Given the description of an element on the screen output the (x, y) to click on. 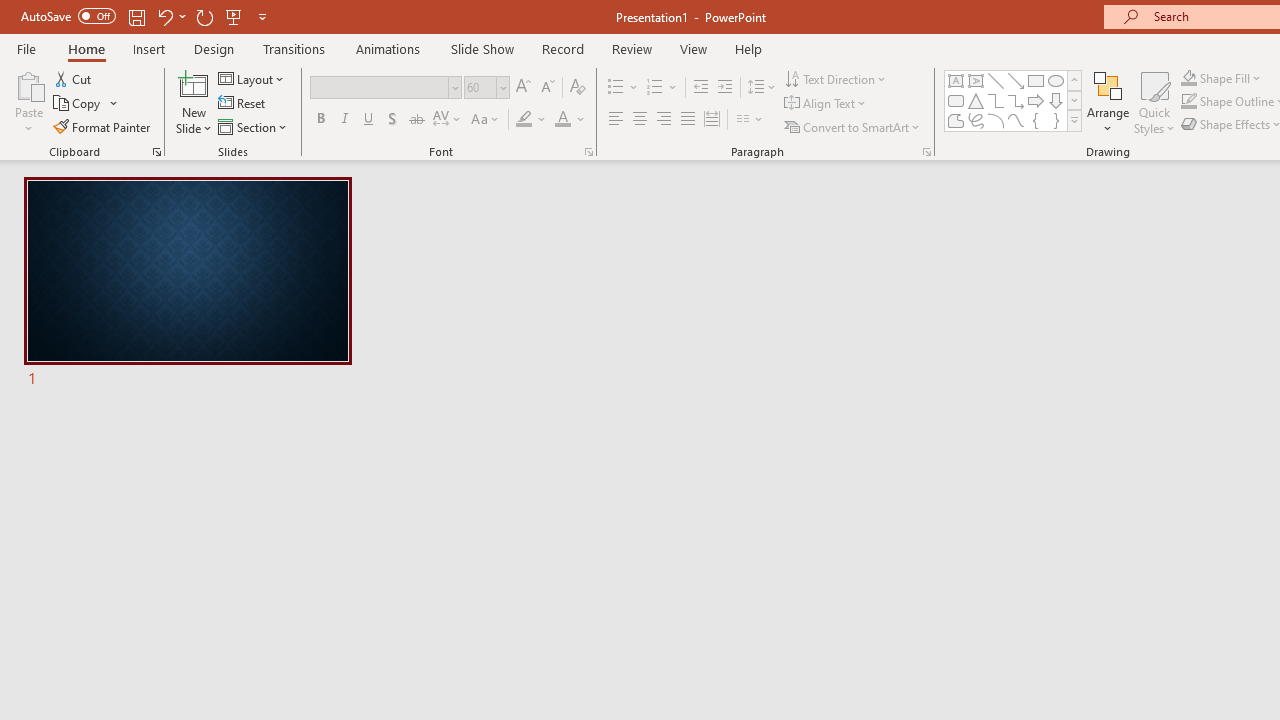
Decrease Indent (700, 87)
Line Arrow (1016, 80)
Font Color Red (562, 119)
Design (214, 48)
Copy (85, 103)
Curve (1016, 120)
Strikethrough (416, 119)
Paste (28, 102)
Format Painter (103, 126)
Animations (388, 48)
Quick Access Toolbar (145, 16)
Paragraph... (926, 151)
Right Brace (1055, 120)
Line Spacing (762, 87)
Left Brace (1035, 120)
